Given the description of an element on the screen output the (x, y) to click on. 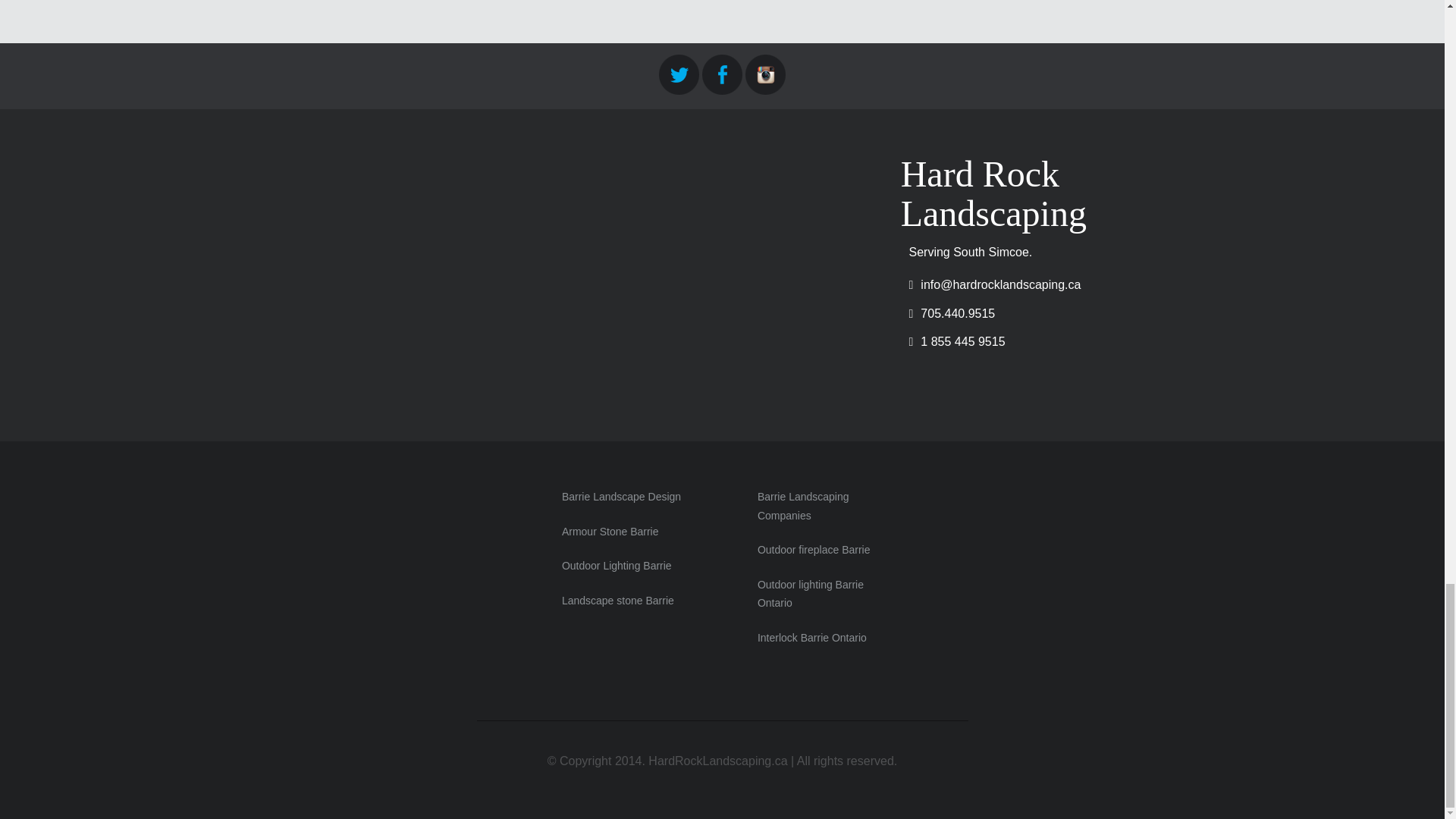
Armour Stone Barrie (610, 531)
Barrie Landscape Design (621, 496)
